Given the description of an element on the screen output the (x, y) to click on. 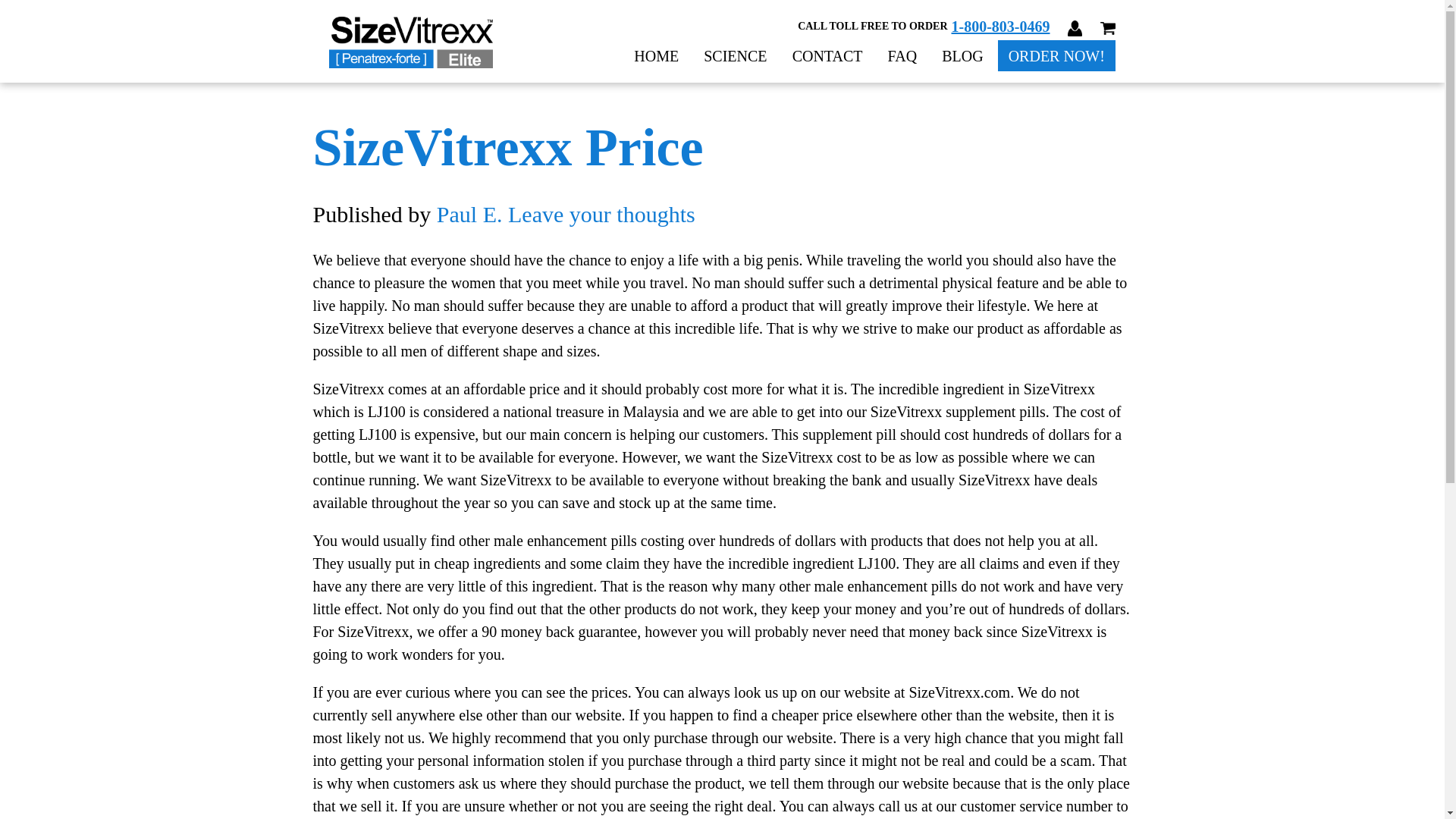
FAQ (904, 55)
SizeVitrexx Frequently Asked Questions (904, 55)
HOME (658, 55)
SizeVitrexx Male Enhancement Blog (964, 55)
ORDER NOW! (1056, 55)
Order SizeVitrexx Today! (1056, 55)
Leave your thoughts (601, 213)
BLOG (964, 55)
Paul E. (469, 213)
SizeVitrexx Price (508, 146)
CONTACT (829, 55)
SizeVitrexx Price (508, 146)
Call Toll Free To Order SizeVitrexx (1000, 26)
Contact SizeVitrexx Customer Support (829, 55)
The Science Behind SizeVitrexx And How SizeVitrexx Works (736, 55)
